Given the description of an element on the screen output the (x, y) to click on. 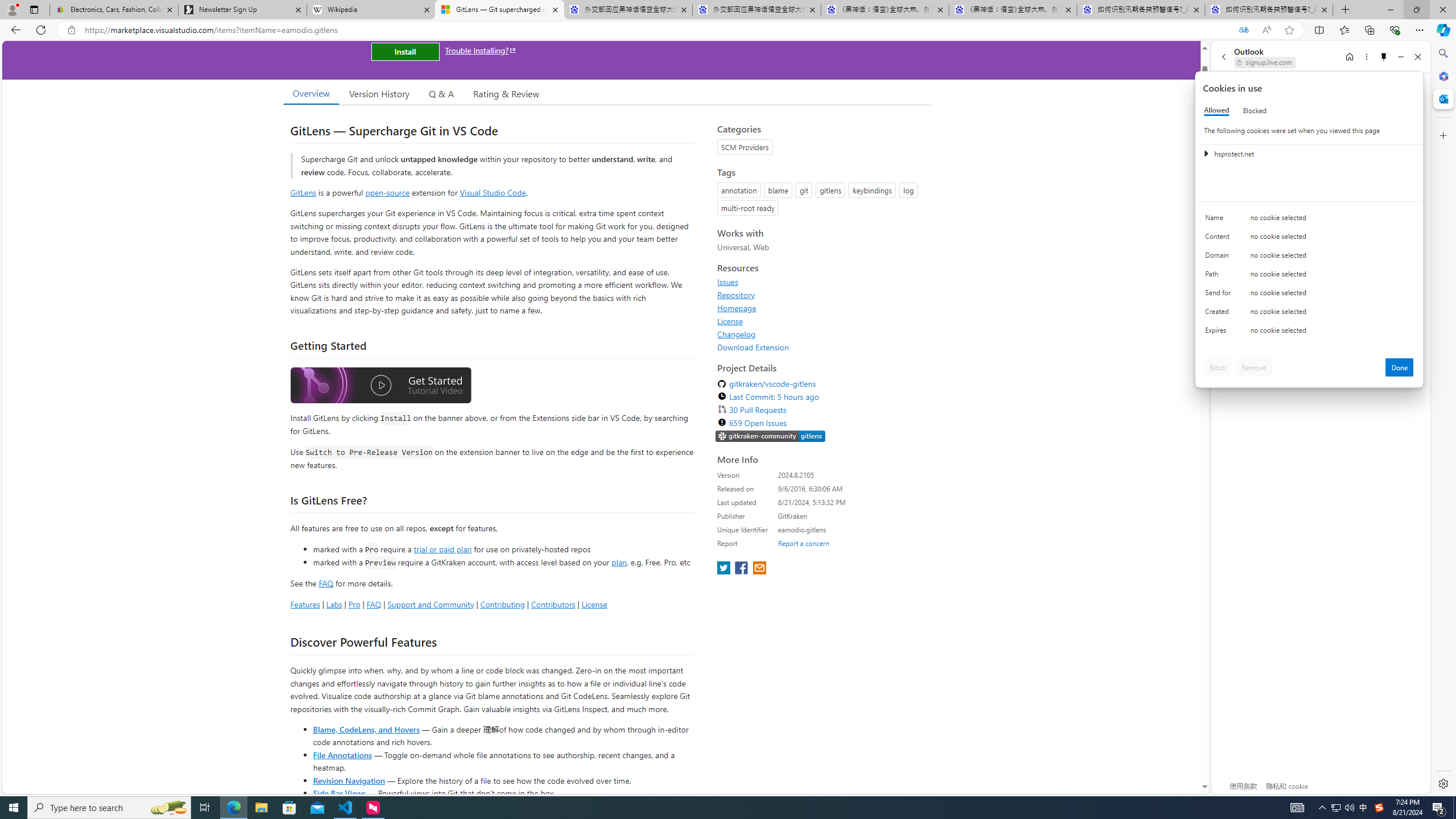
https://slack.gitkraken.com// (769, 436)
Report a concern (803, 542)
Newsletter Sign Up (242, 9)
Contributing (502, 603)
Name (1219, 220)
File Annotations (342, 754)
Features (304, 603)
signup.live.com (1264, 61)
